Given the description of an element on the screen output the (x, y) to click on. 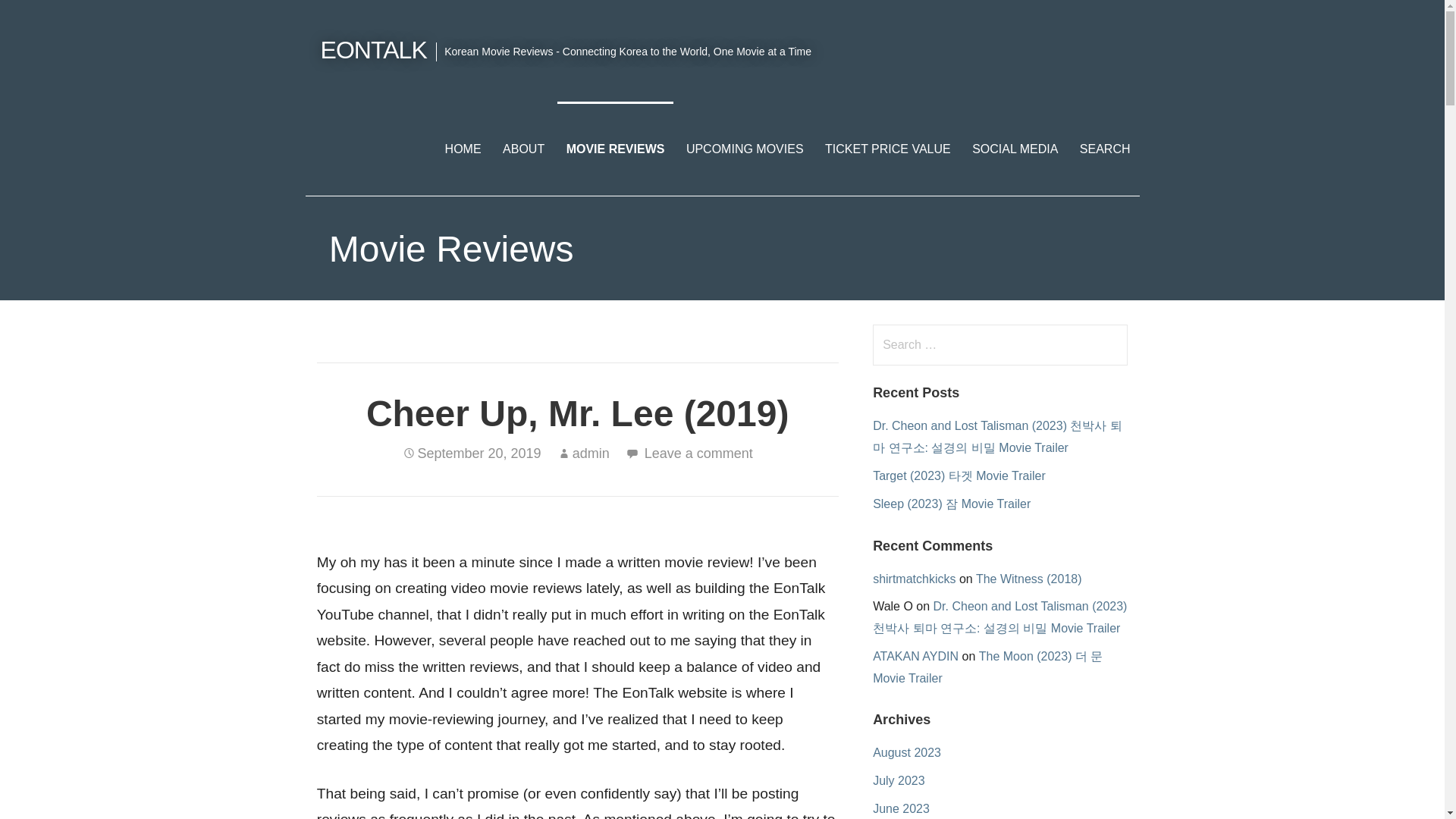
EONTALK (373, 49)
SOCIAL MEDIA (1014, 148)
MOVIE REVIEWS (615, 148)
Leave a comment (698, 453)
TICKET PRICE VALUE (887, 148)
Posts by admin (591, 453)
shirtmatchkicks (913, 577)
admin (591, 453)
Search (42, 18)
ATAKAN AYDIN (915, 656)
